Given the description of an element on the screen output the (x, y) to click on. 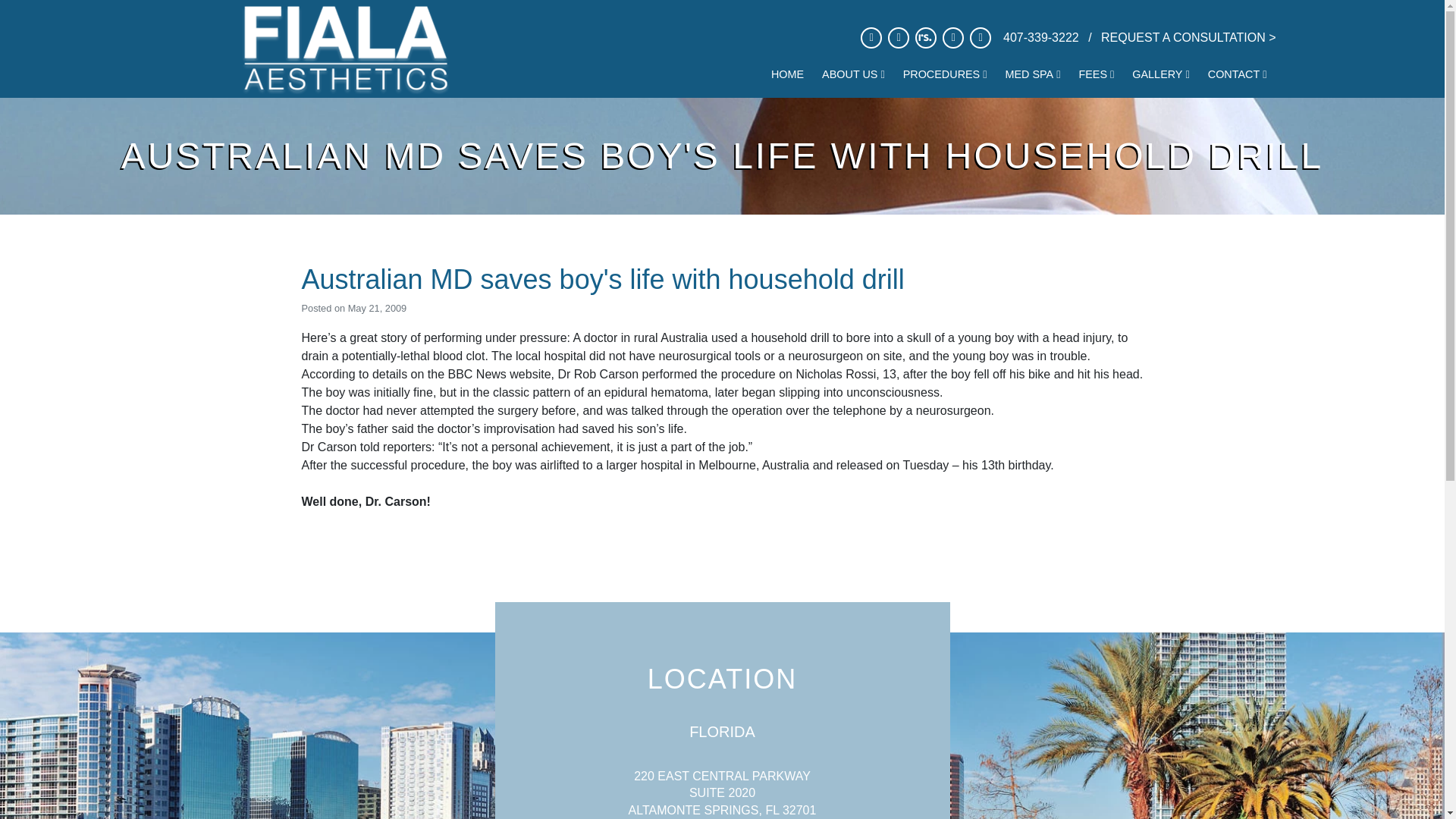
ABOUT US (852, 74)
407-339-3222 (1042, 37)
PROCEDURES (944, 74)
HOME (786, 74)
